Given the description of an element on the screen output the (x, y) to click on. 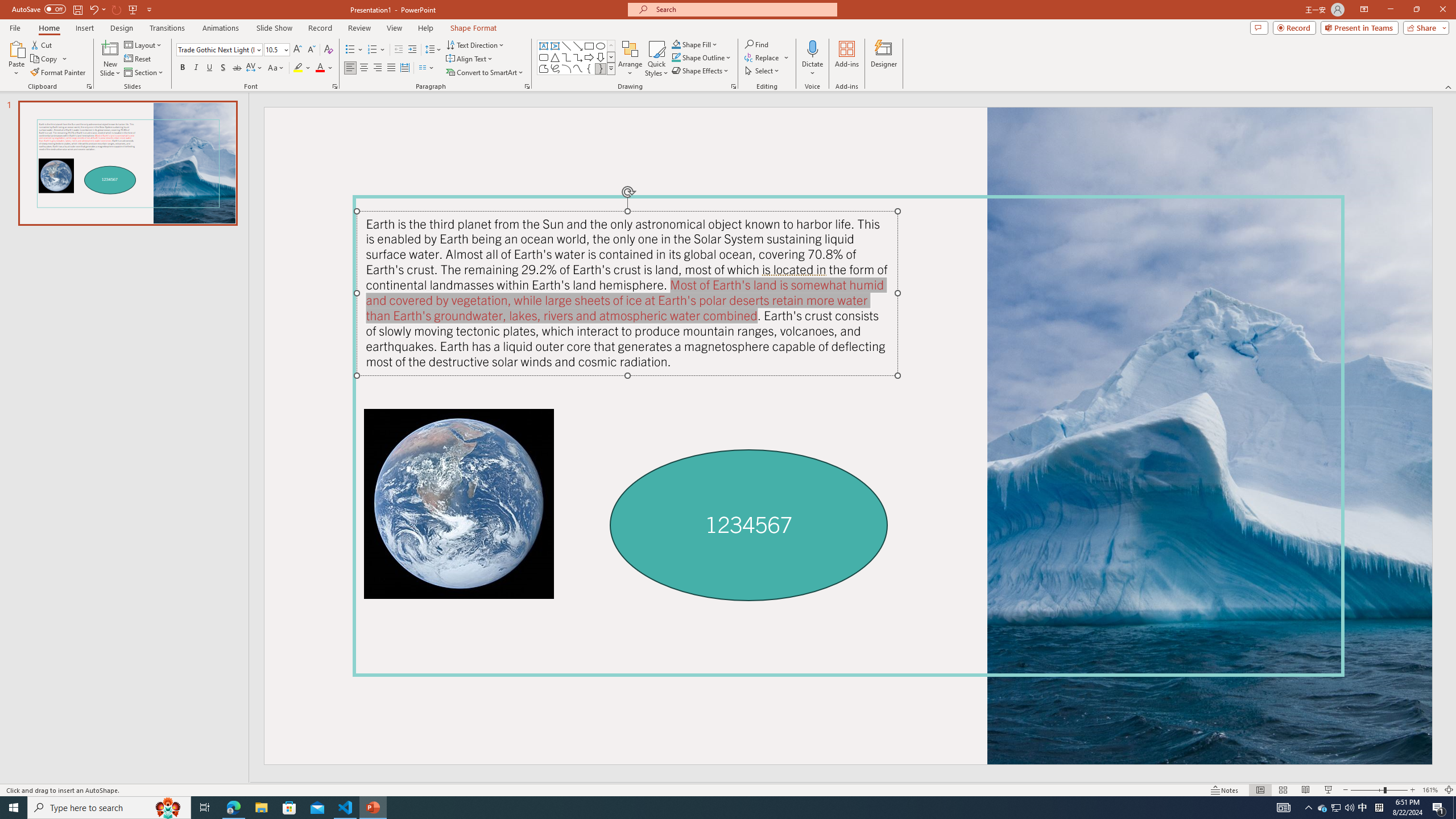
Distributed (404, 67)
Increase Font Size (297, 49)
Connector: Elbow (566, 57)
Shape Format (473, 28)
Convert to SmartArt (485, 72)
Line (566, 45)
